Given the description of an element on the screen output the (x, y) to click on. 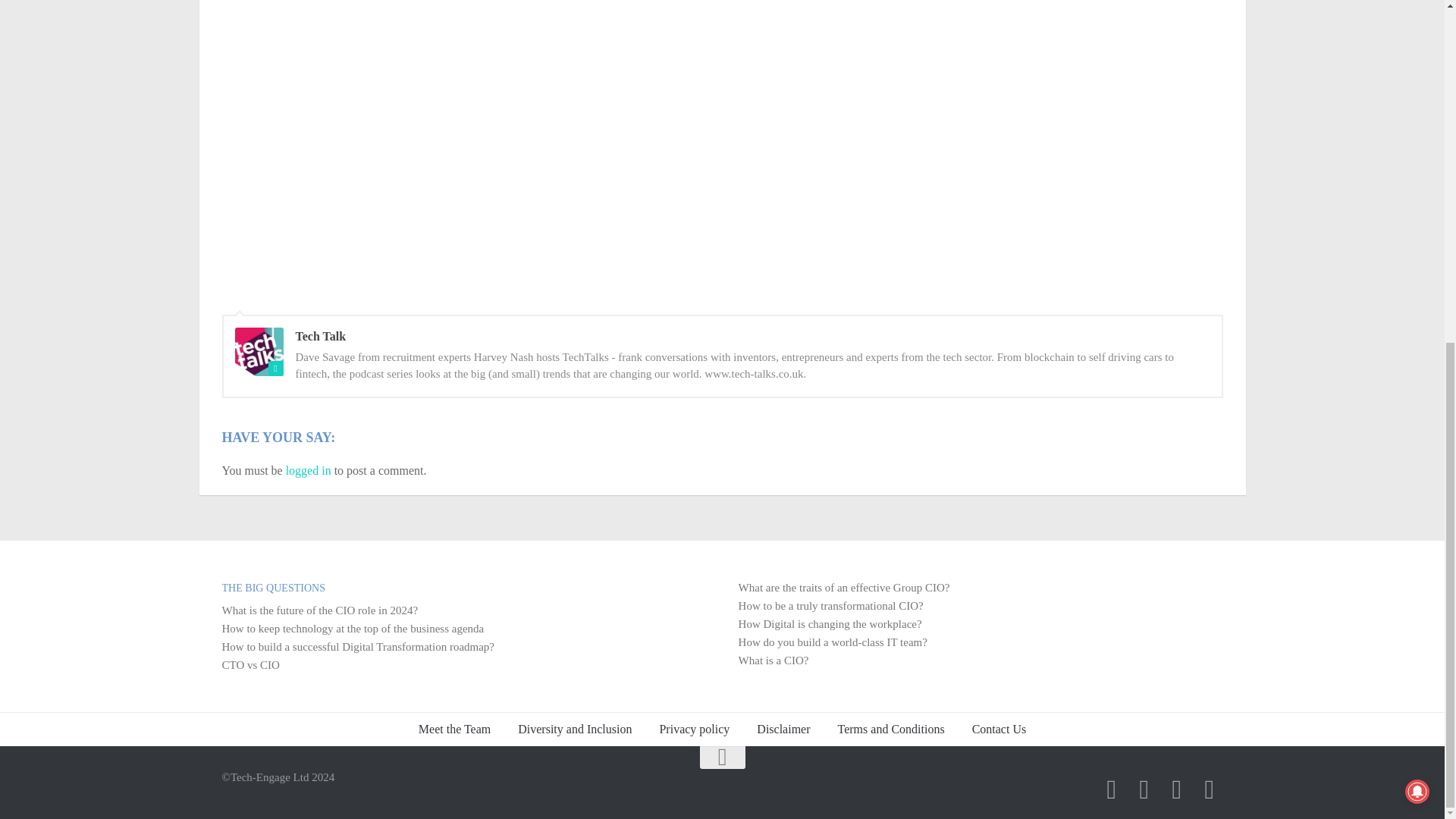
How Digital is changing the workplace? (829, 623)
Subscribe to our Youtube channel (1144, 789)
Diversity and Inclusion (574, 729)
How do you build a world-class IT team? (832, 642)
Meet the Team (453, 729)
How to be a truly transformational CIO? (830, 605)
Follow us on Twitter (1176, 789)
Like our Facebook page (1209, 789)
Privacy policy (693, 729)
What is the future of the CIO role in 2024? (319, 610)
How to keep technology at the top of the business agenda (352, 628)
Follow us on LinkedIn (1110, 789)
How to build a successful Digital Transformation roadmap? (358, 646)
logged in (308, 470)
What is a CIO? (773, 660)
